Given the description of an element on the screen output the (x, y) to click on. 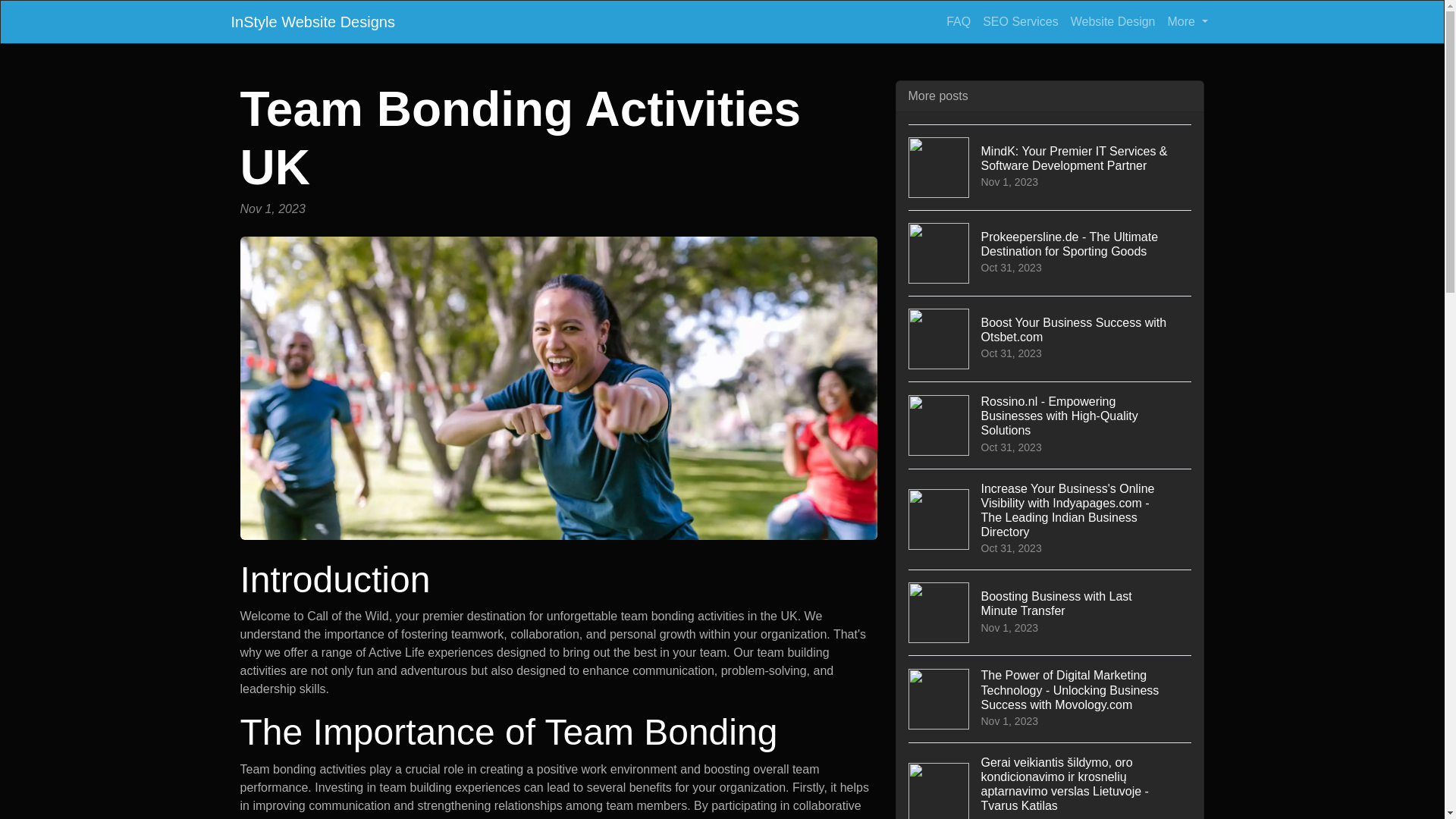
InStyle Website Designs (312, 21)
SEO Services (1020, 21)
FAQ (958, 21)
More (1050, 338)
Website Design (1187, 21)
